Given the description of an element on the screen output the (x, y) to click on. 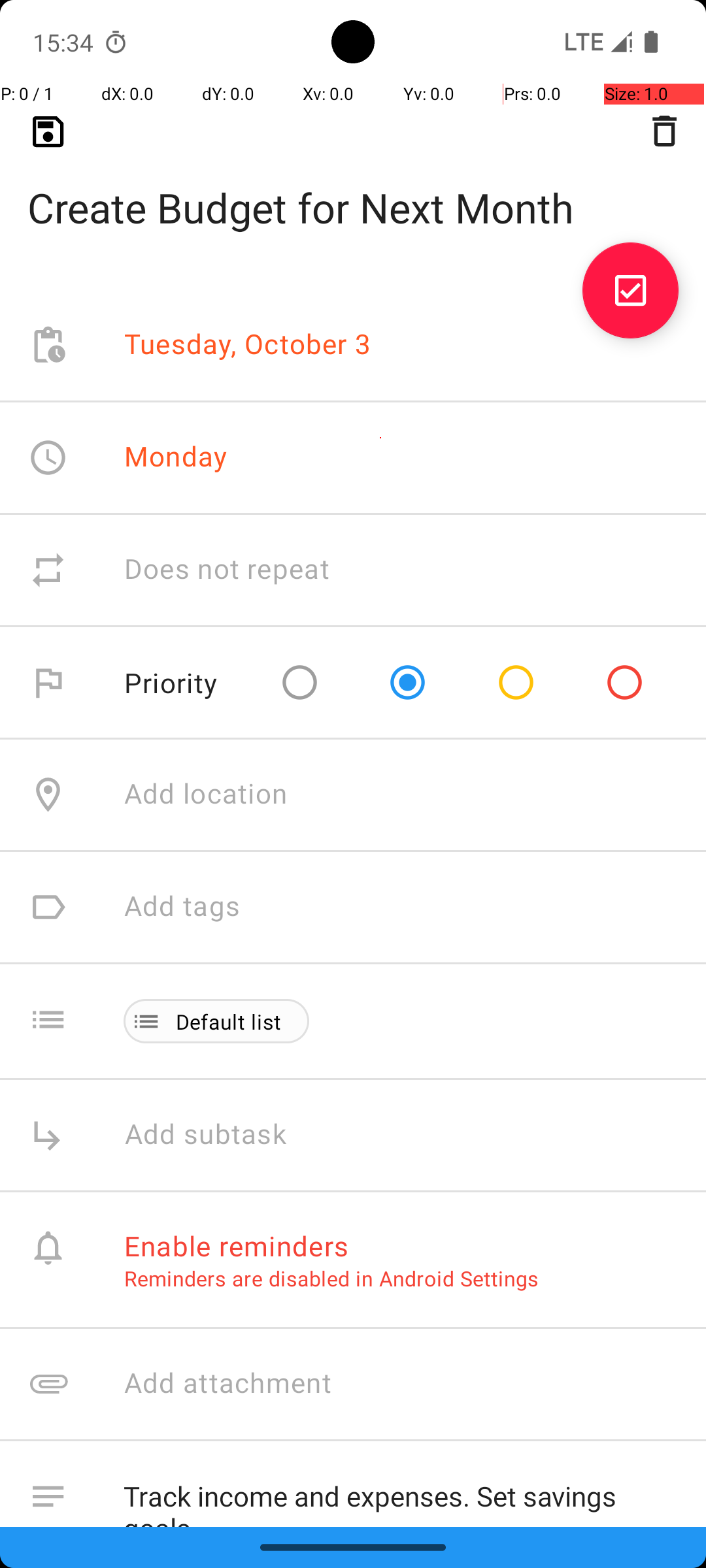
Track income and expenses. Set savings goals. Element type: android.widget.EditText (400, 1493)
Tuesday, October 3 Element type: android.widget.TextView (247, 344)
